Given the description of an element on the screen output the (x, y) to click on. 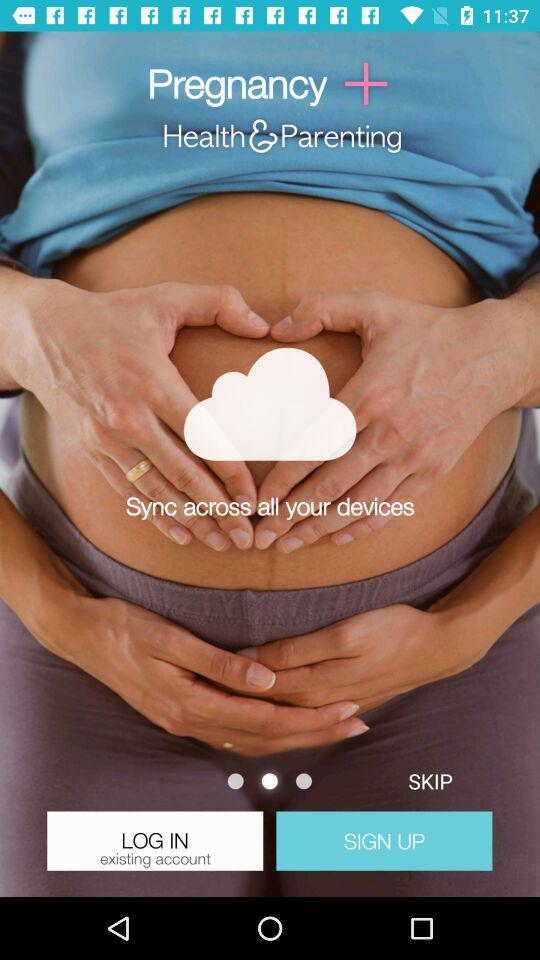
select the skip button (430, 780)
